Given the description of an element on the screen output the (x, y) to click on. 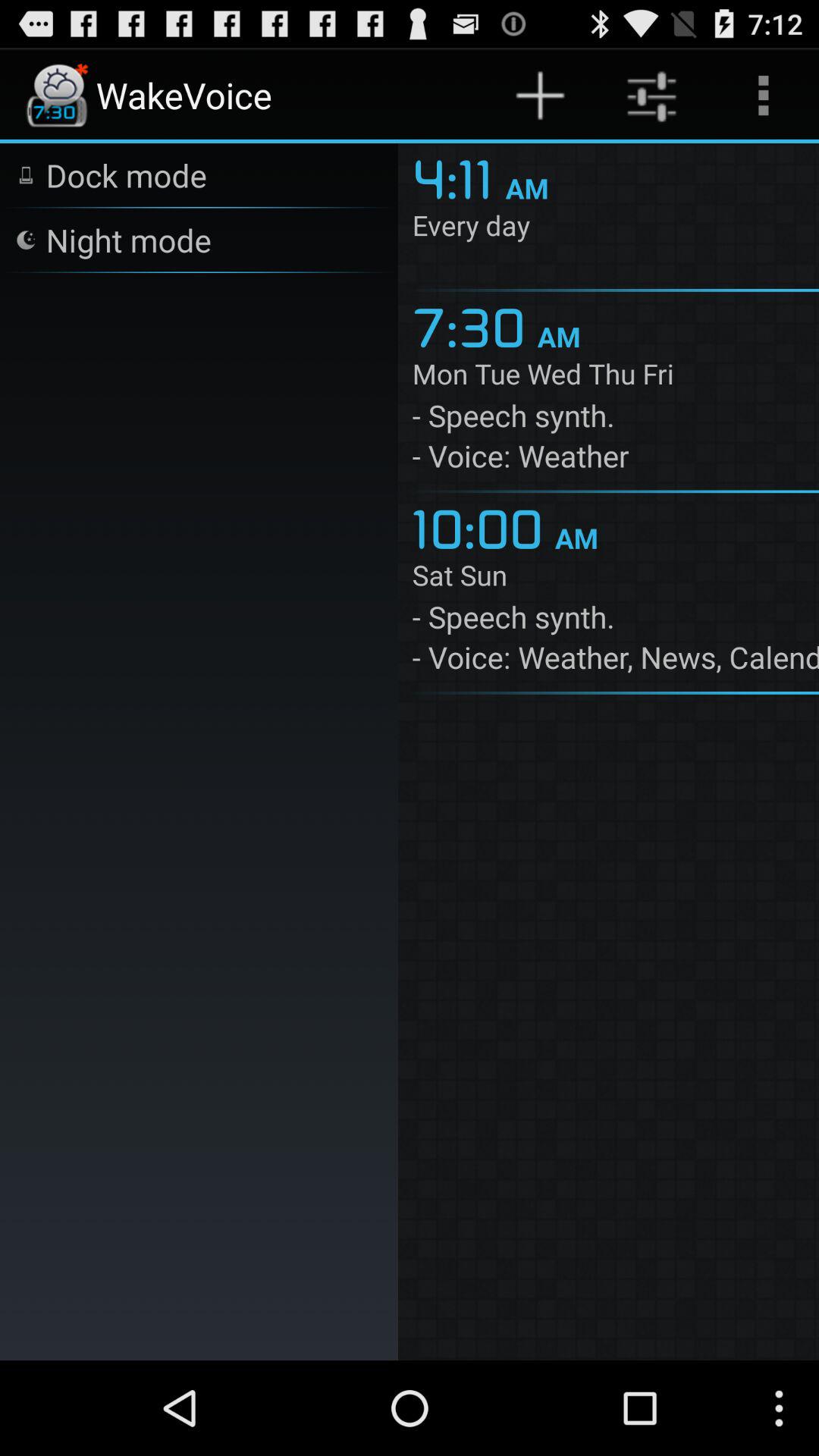
launch mon tue wed icon (615, 376)
